Given the description of an element on the screen output the (x, y) to click on. 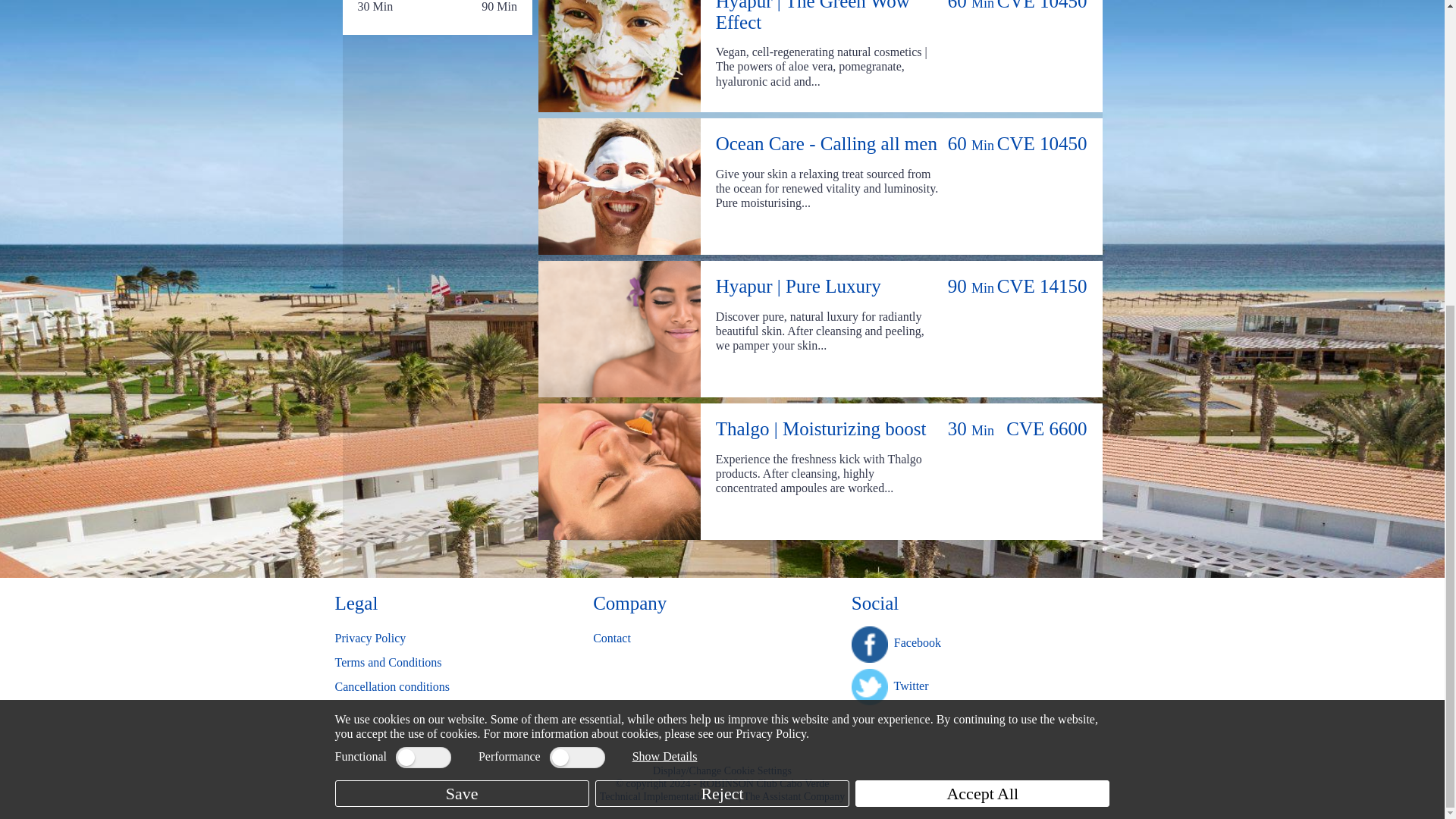
Show Details (664, 277)
Contact (611, 637)
Cancellation conditions (391, 686)
